Given the description of an element on the screen output the (x, y) to click on. 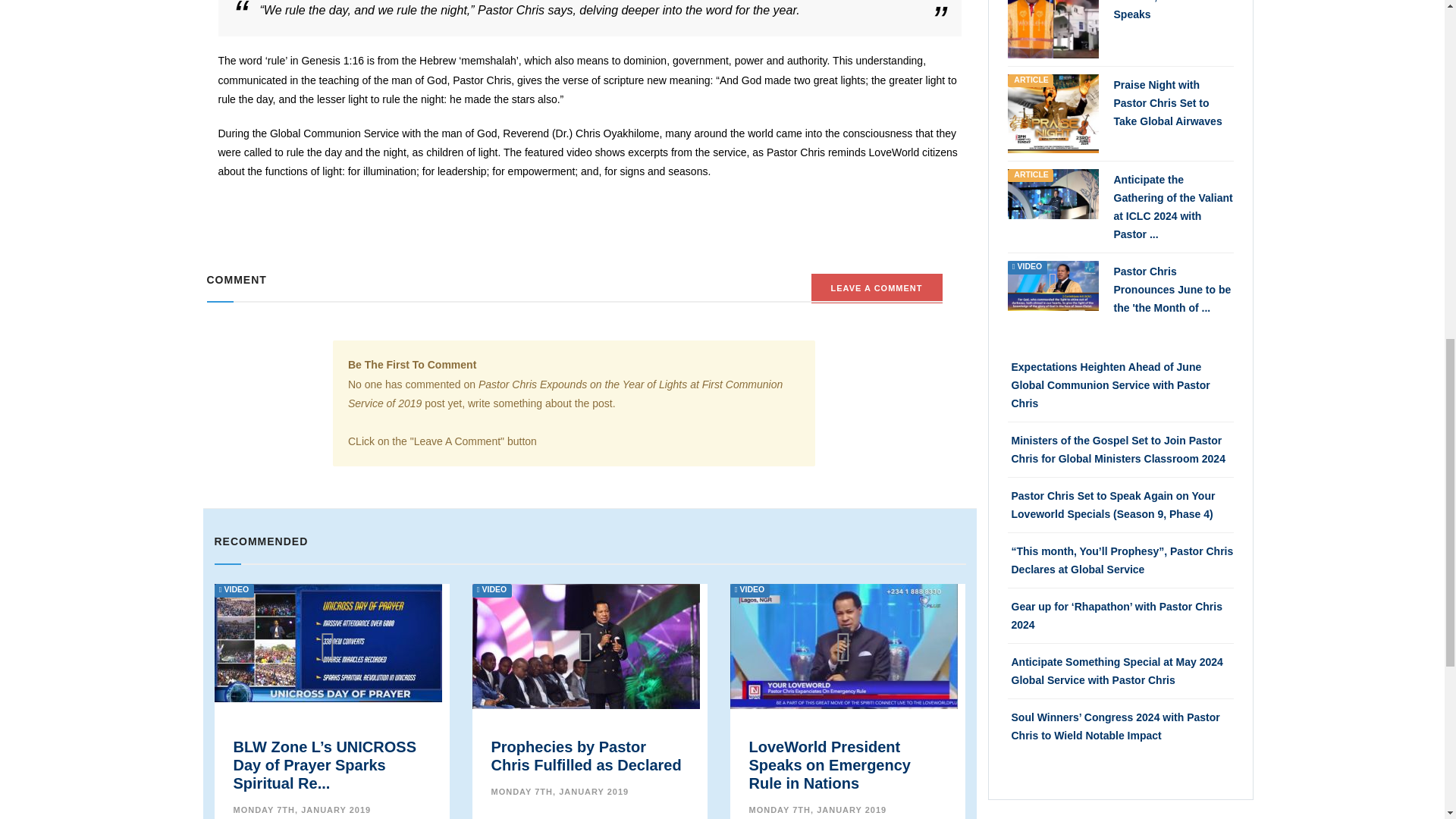
VIDEO (842, 645)
LoveWorld President Speaks on Emergency Rule in Nations (842, 645)
LEAVE A COMMENT (876, 288)
VIDEO (584, 658)
Prophecies by Pastor Chris Fulfilled as Declared (586, 755)
LoveWorld President Speaks on Emergency Rule in Nations (830, 764)
VIDEO (327, 642)
Prophecies by Pastor Chris Fulfilled as Declared (586, 755)
LoveWorld President Speaks on Emergency Rule in Nations (830, 764)
Prophecies by Pastor Chris Fulfilled as Declared (584, 658)
